Given the description of an element on the screen output the (x, y) to click on. 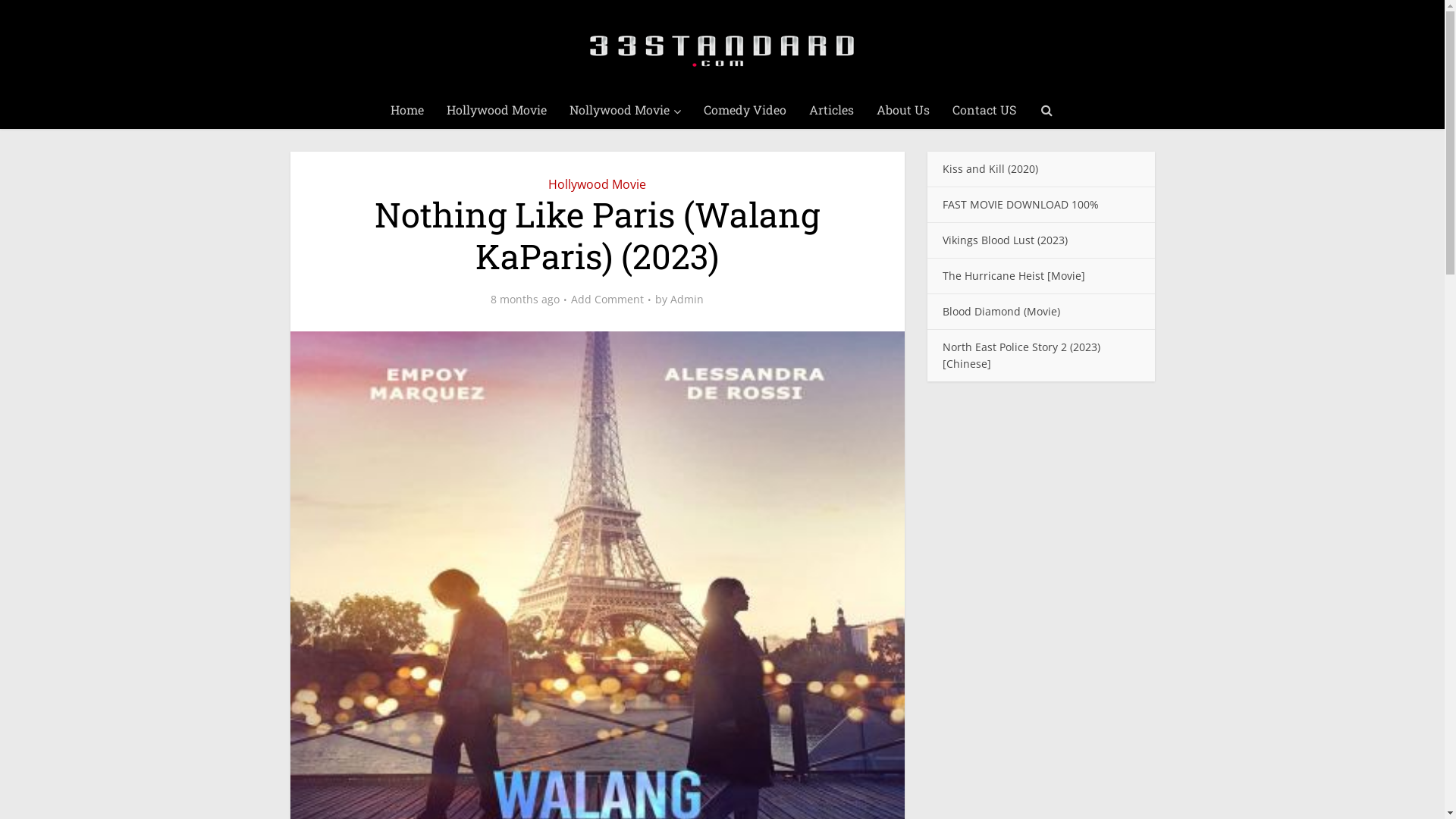
Hollywood Movie Element type: text (496, 109)
Home Element type: text (407, 109)
Kiss and Kill (2020) Element type: text (989, 168)
Articles Element type: text (831, 109)
Vikings Blood Lust (2023) Element type: text (1003, 239)
About Us Element type: text (903, 109)
Contact US Element type: text (984, 109)
Admin Element type: text (686, 299)
Comedy Video Element type: text (744, 109)
Blood Diamond (Movie) Element type: text (1000, 311)
North East Police Story 2 (2023) [Chinese] Element type: text (1020, 354)
The Hurricane Heist [Movie] Element type: text (1012, 275)
Hollywood Movie Element type: text (597, 183)
Nollywood Movie Element type: text (625, 109)
Add Comment Element type: text (607, 299)
FAST MOVIE DOWNLOAD 100% Element type: text (1019, 204)
